Given the description of an element on the screen output the (x, y) to click on. 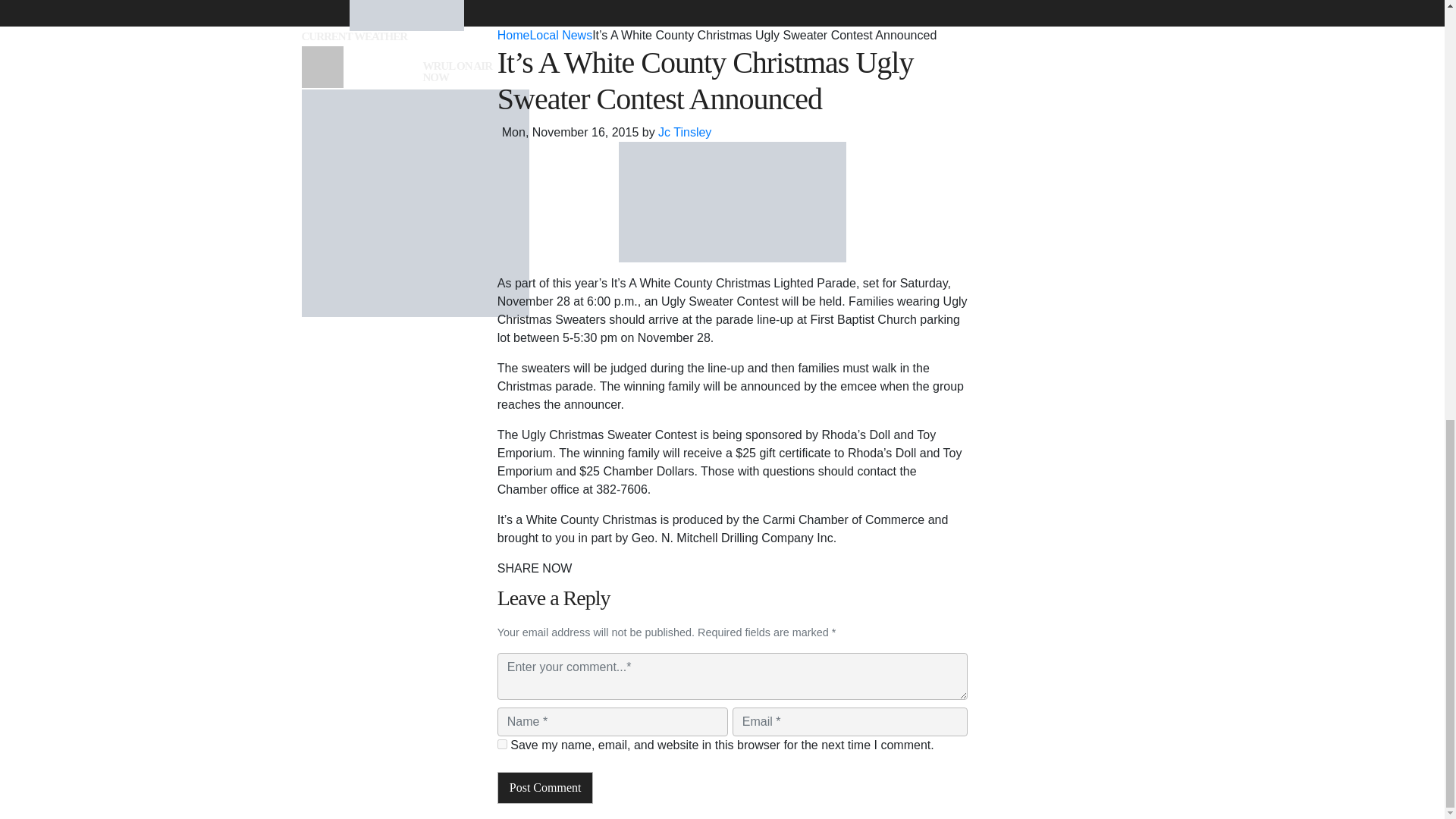
Post Comment (545, 787)
yes (501, 744)
